Given the description of an element on the screen output the (x, y) to click on. 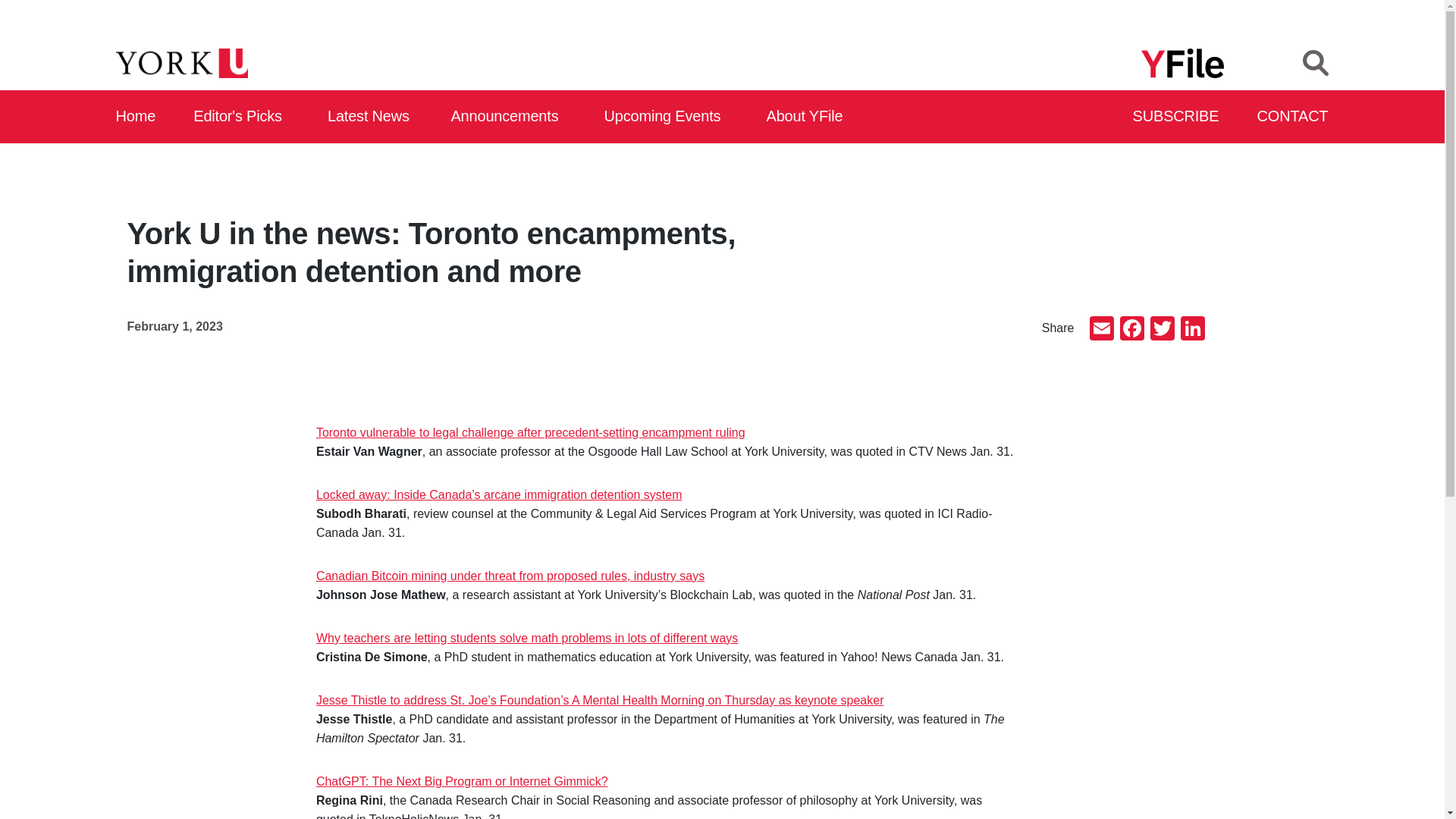
Home (136, 116)
About YFile (806, 116)
LinkedIn (1191, 329)
Facebook (1131, 329)
About YFile (806, 116)
Upcoming Events (667, 116)
Twitter (1161, 329)
Editor's Picks (242, 116)
Email (1101, 329)
Twitter (1161, 329)
CONTACT (1293, 116)
Email (1101, 329)
Editor's Picks (242, 116)
Latest News (370, 116)
